Given the description of an element on the screen output the (x, y) to click on. 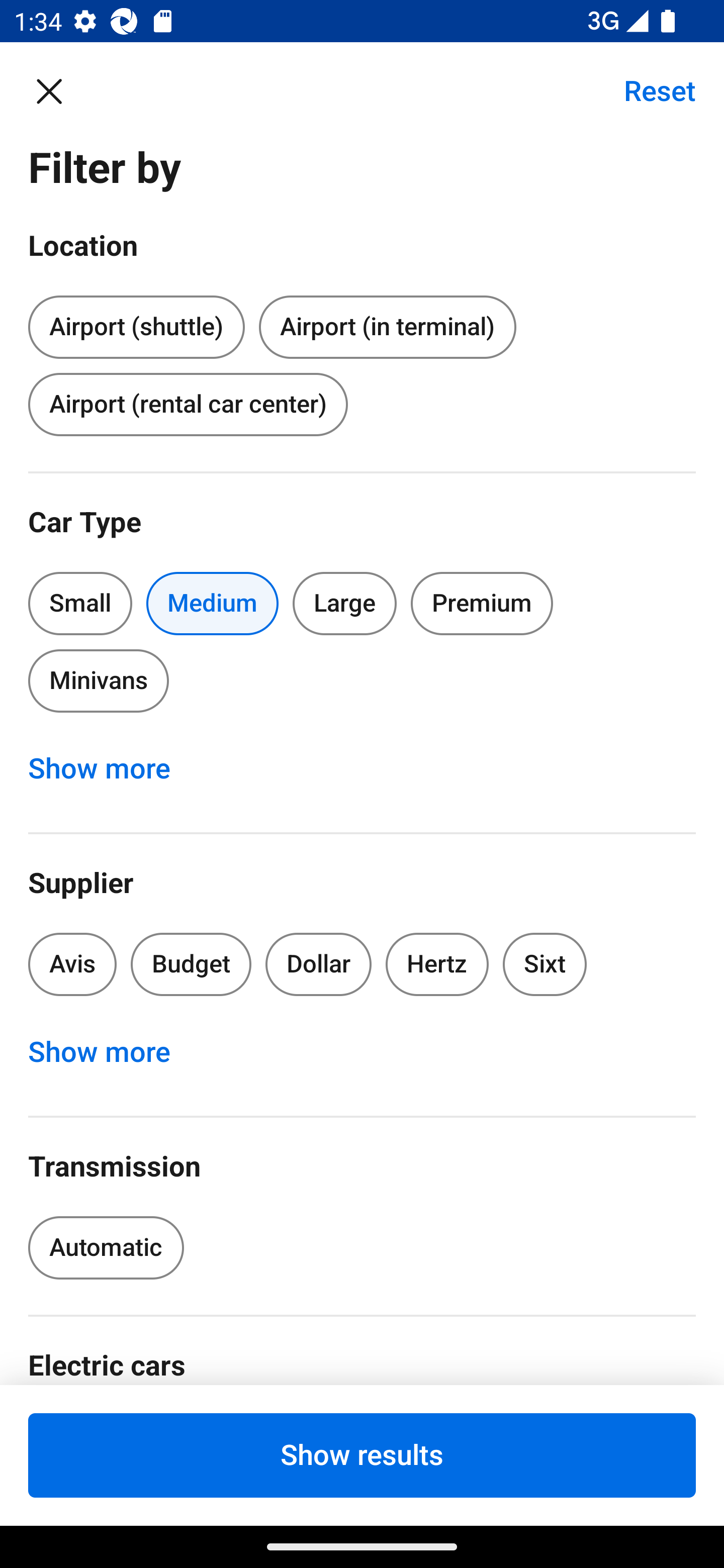
Close (59, 90)
Reset (649, 90)
Airport (shuttle) (136, 323)
Airport (in terminal) (387, 327)
Airport (rental car center) (187, 404)
Small (80, 603)
Large (344, 603)
Premium (482, 603)
Minivans (98, 680)
Show more (109, 767)
Avis (72, 963)
Budget (191, 963)
Dollar (318, 963)
Hertz (437, 963)
Sixt (544, 963)
Show more (109, 1051)
Automatic (105, 1247)
Show results (361, 1454)
